Given the description of an element on the screen output the (x, y) to click on. 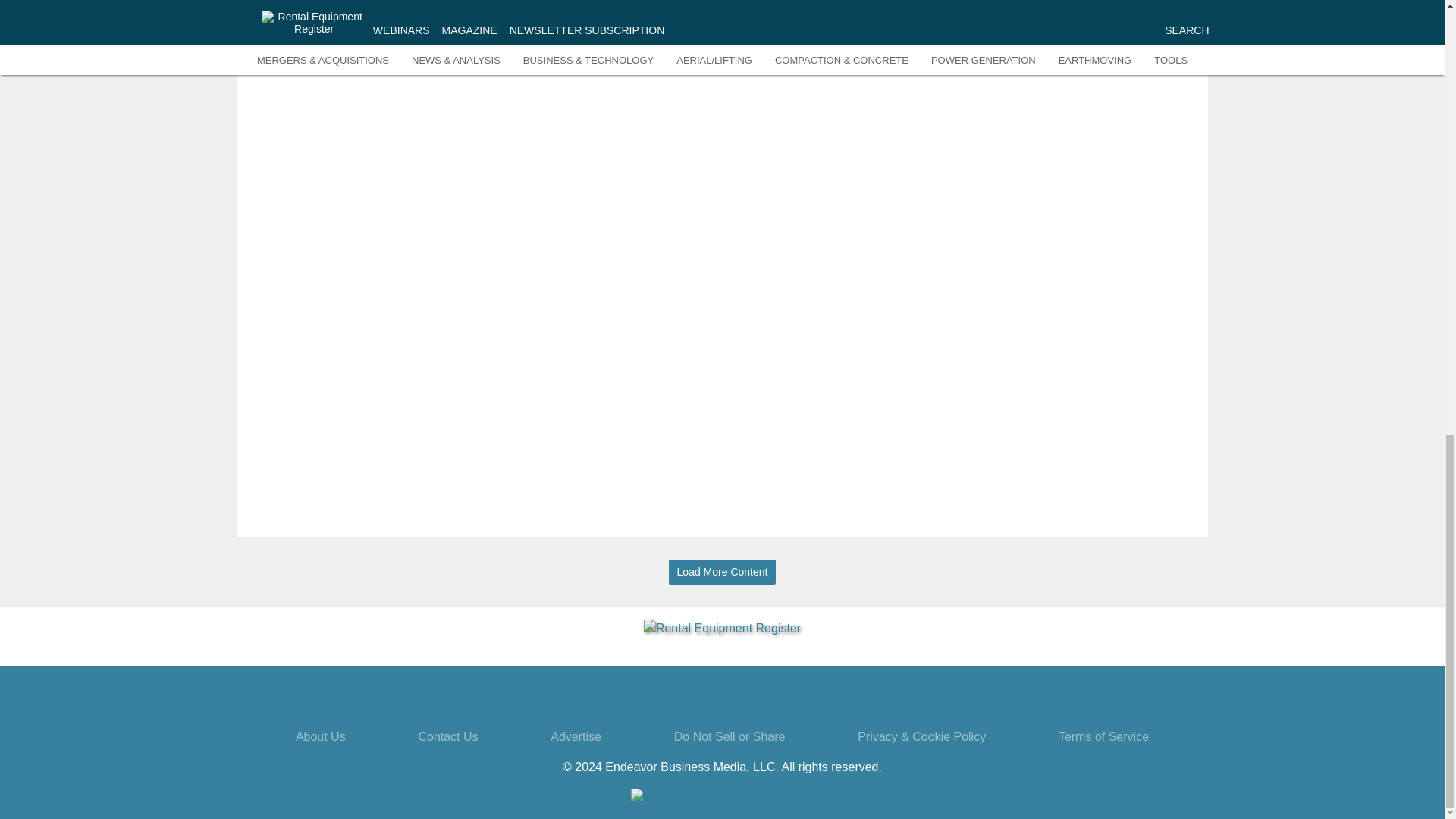
Load More Content (722, 571)
Snowblower 1 (1012, 14)
Skid Steer Loaders (1129, 45)
Product of the Week - SB72D, SB78D and SB84D snow blowers (1129, 6)
